Given the description of an element on the screen output the (x, y) to click on. 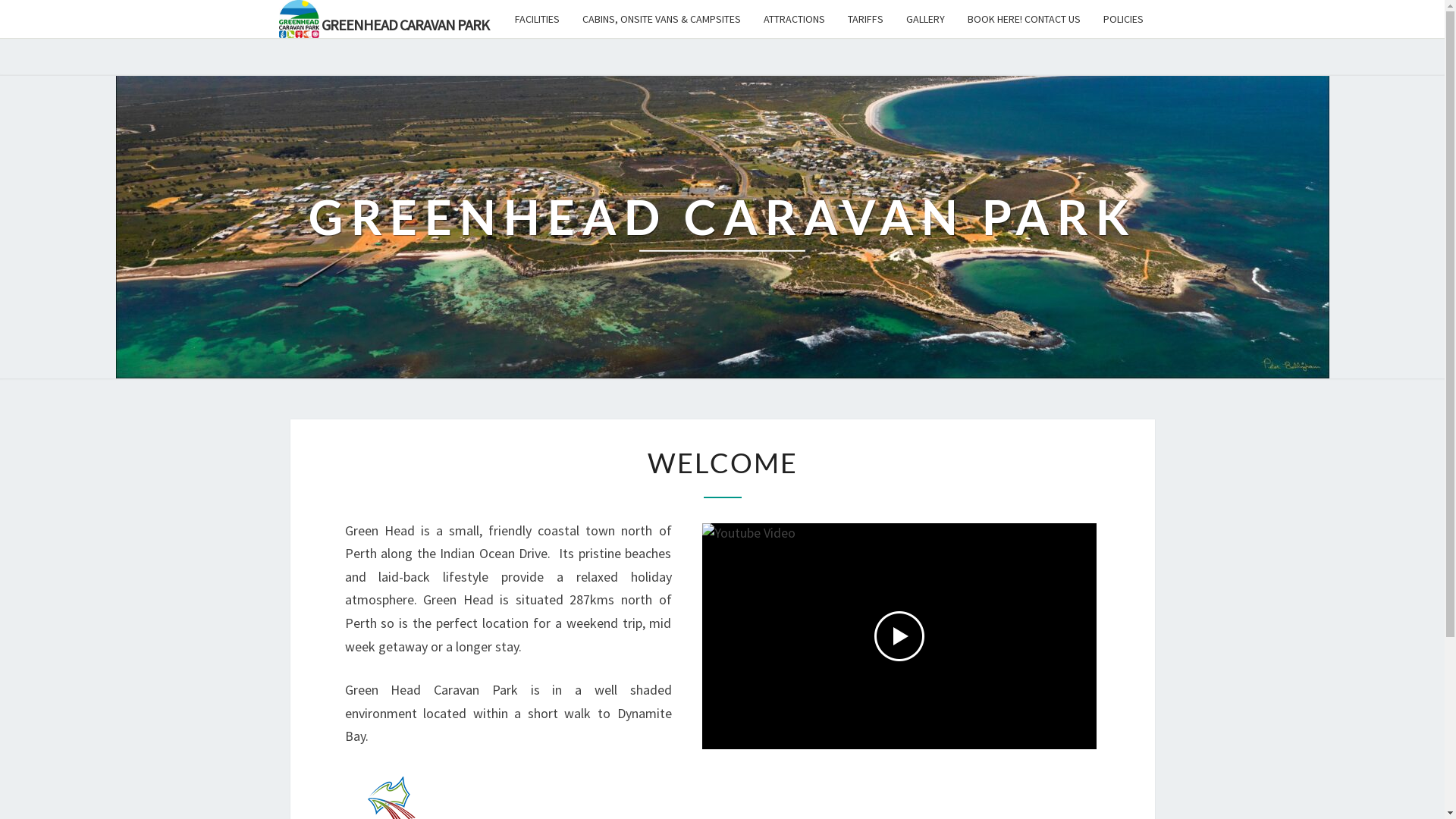
CABINS, ONSITE VANS & CAMPSITES Element type: text (660, 18)
Greenhead Caravan Park Element type: hover (299, 18)
TARIFFS Element type: text (864, 18)
GREENHEAD CARAVAN PARK Element type: text (721, 226)
POLICIES Element type: text (1123, 18)
FACILITIES Element type: text (537, 18)
GALLERY Element type: text (925, 18)
GREENHEAD CARAVAN PARK Element type: text (384, 18)
ATTRACTIONS Element type: text (794, 18)
BOOK HERE! CONTACT US Element type: text (1023, 18)
